Given the description of an element on the screen output the (x, y) to click on. 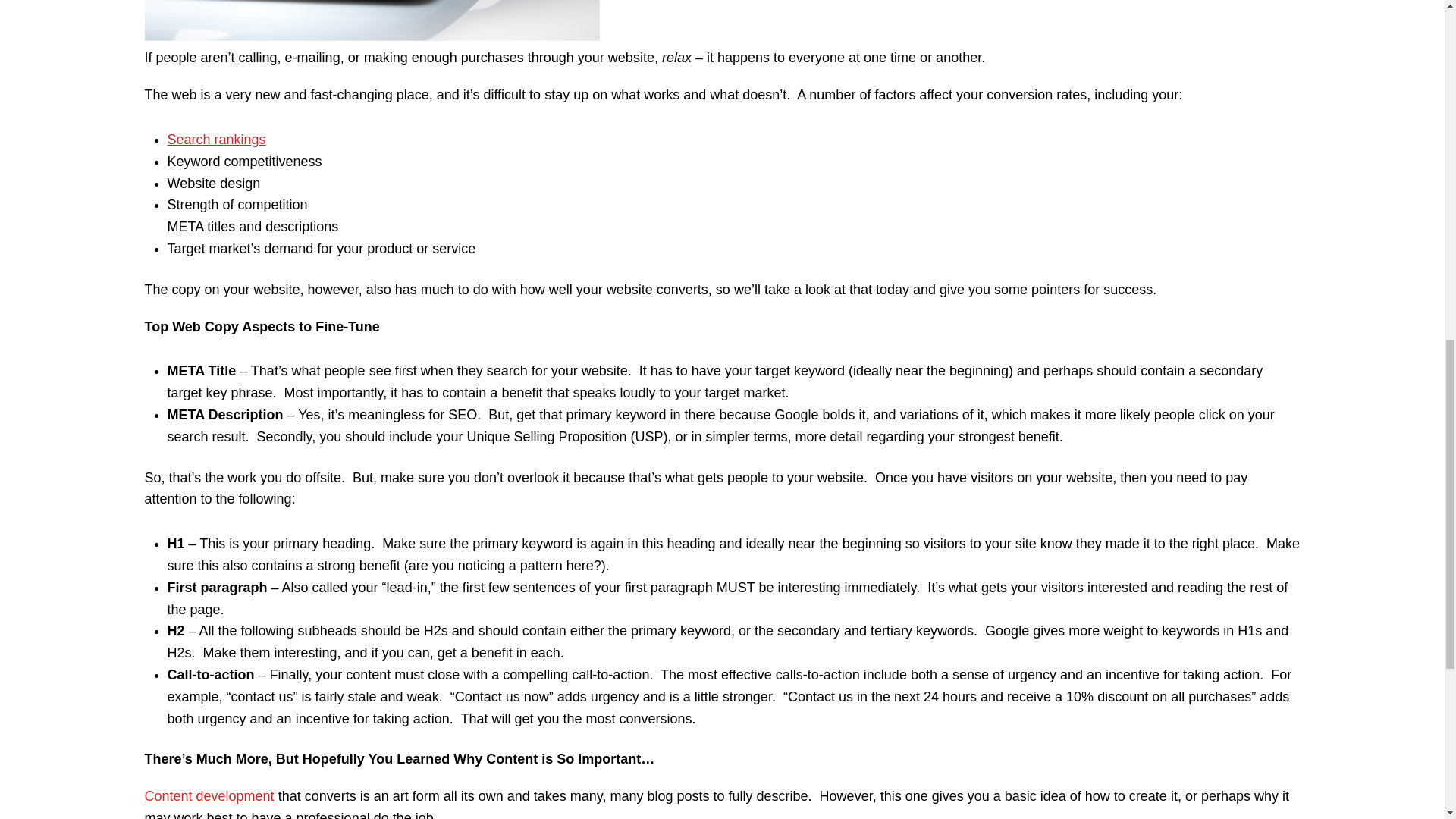
Content development (208, 795)
Search rankings (215, 139)
